Given the description of an element on the screen output the (x, y) to click on. 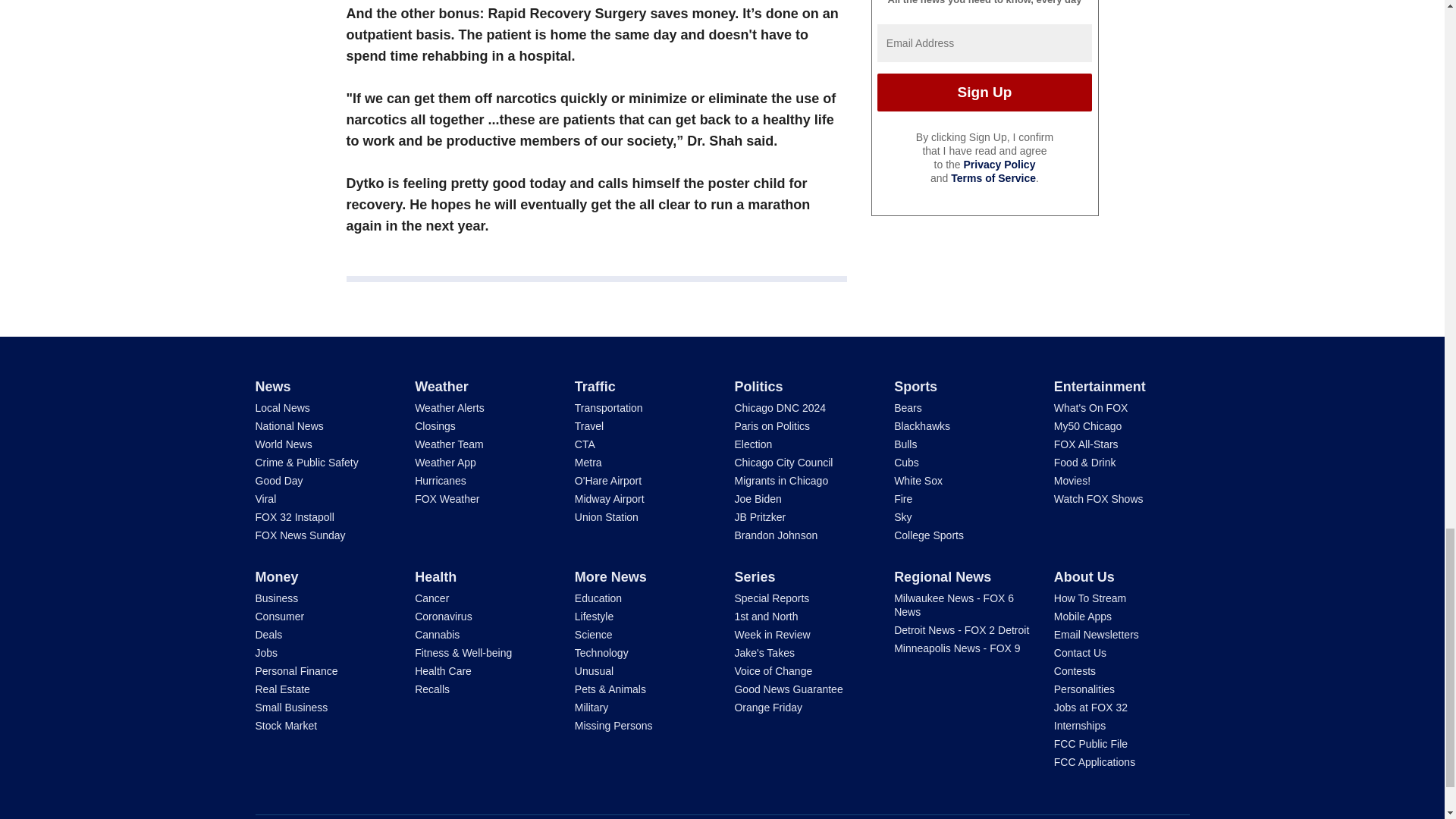
Sign Up (984, 92)
